Given the description of an element on the screen output the (x, y) to click on. 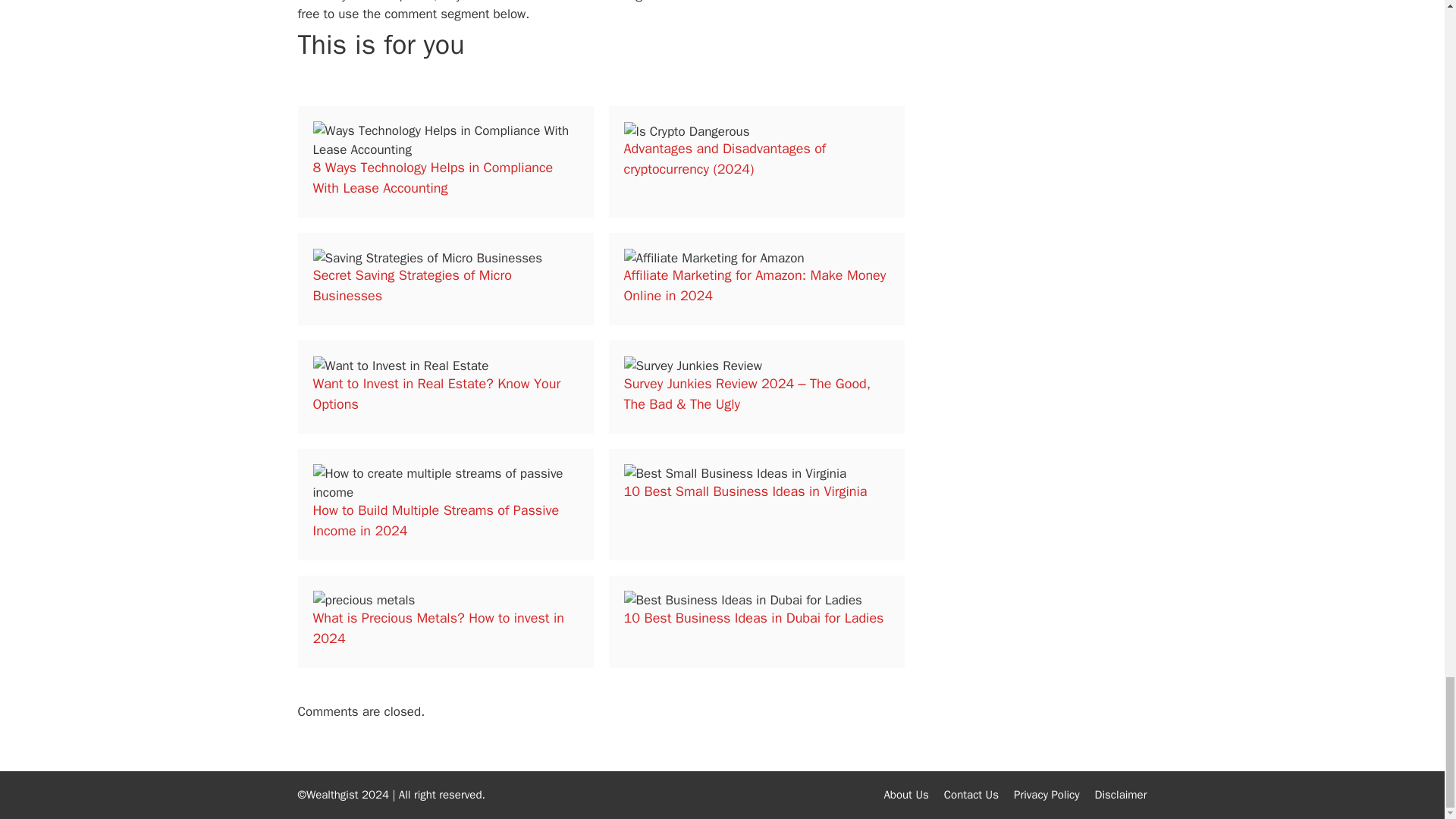
How to Build Multiple Streams of Passive Income in 2024 (436, 520)
Want to Invest in Real Estate? Know Your Options (436, 393)
Coursera (681, 1)
Affiliate Marketing for Amazon: Make Money Online in 2024 (754, 284)
8 Ways Technology Helps in Compliance With Lease Accounting (433, 177)
Secret Saving Strategies of Micro Businesses (412, 284)
